Given the description of an element on the screen output the (x, y) to click on. 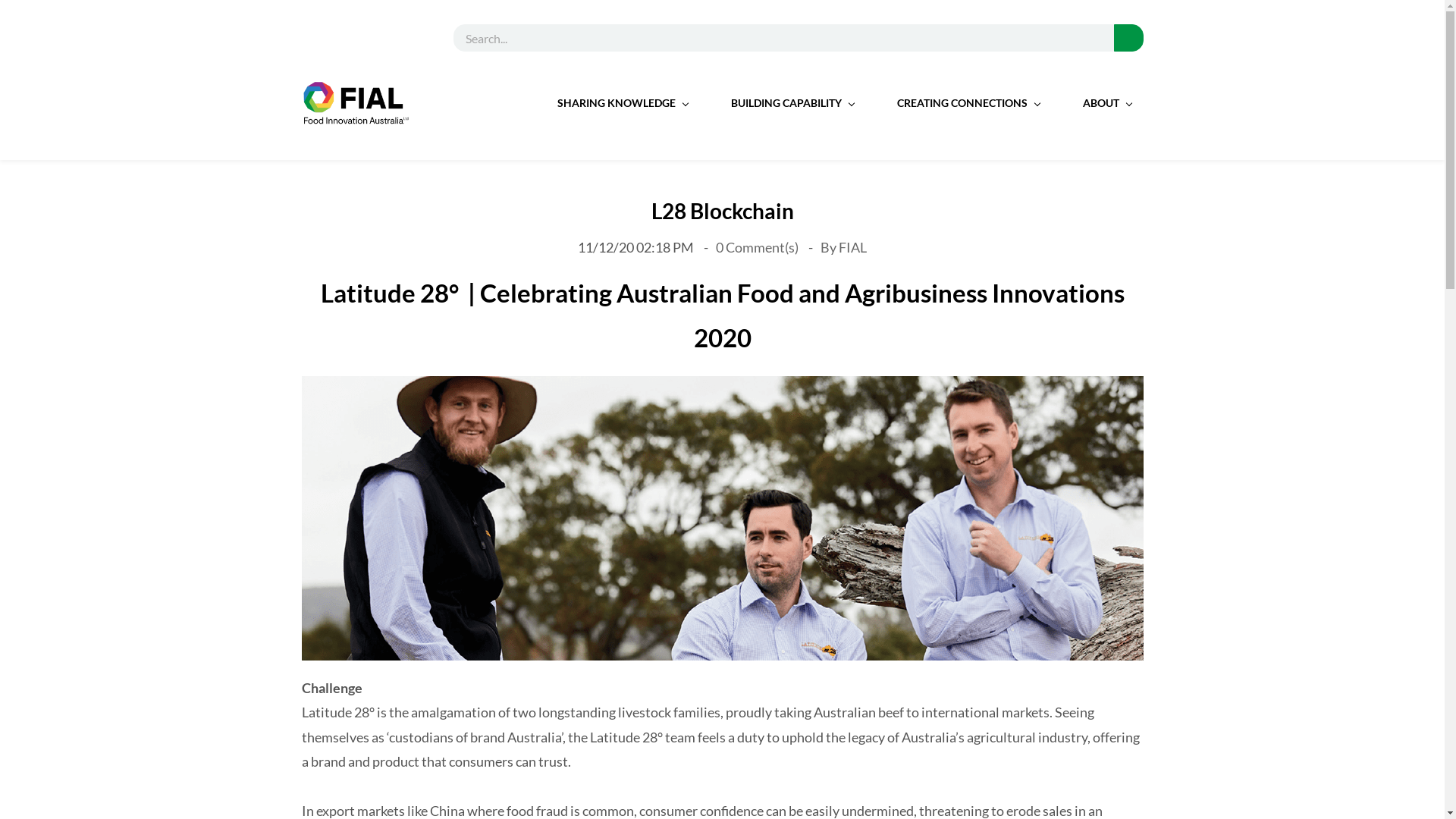
SHARING KNOWLEDGE Element type: text (621, 102)
ABOUT Element type: text (1106, 102)
Cancel Element type: text (42, 15)
FIAL Element type: text (852, 246)
0 Comment(s) Element type: text (757, 246)
BUILDING CAPABILITY Element type: text (792, 102)
CREATING CONNECTIONS Element type: text (967, 102)
